Given the description of an element on the screen output the (x, y) to click on. 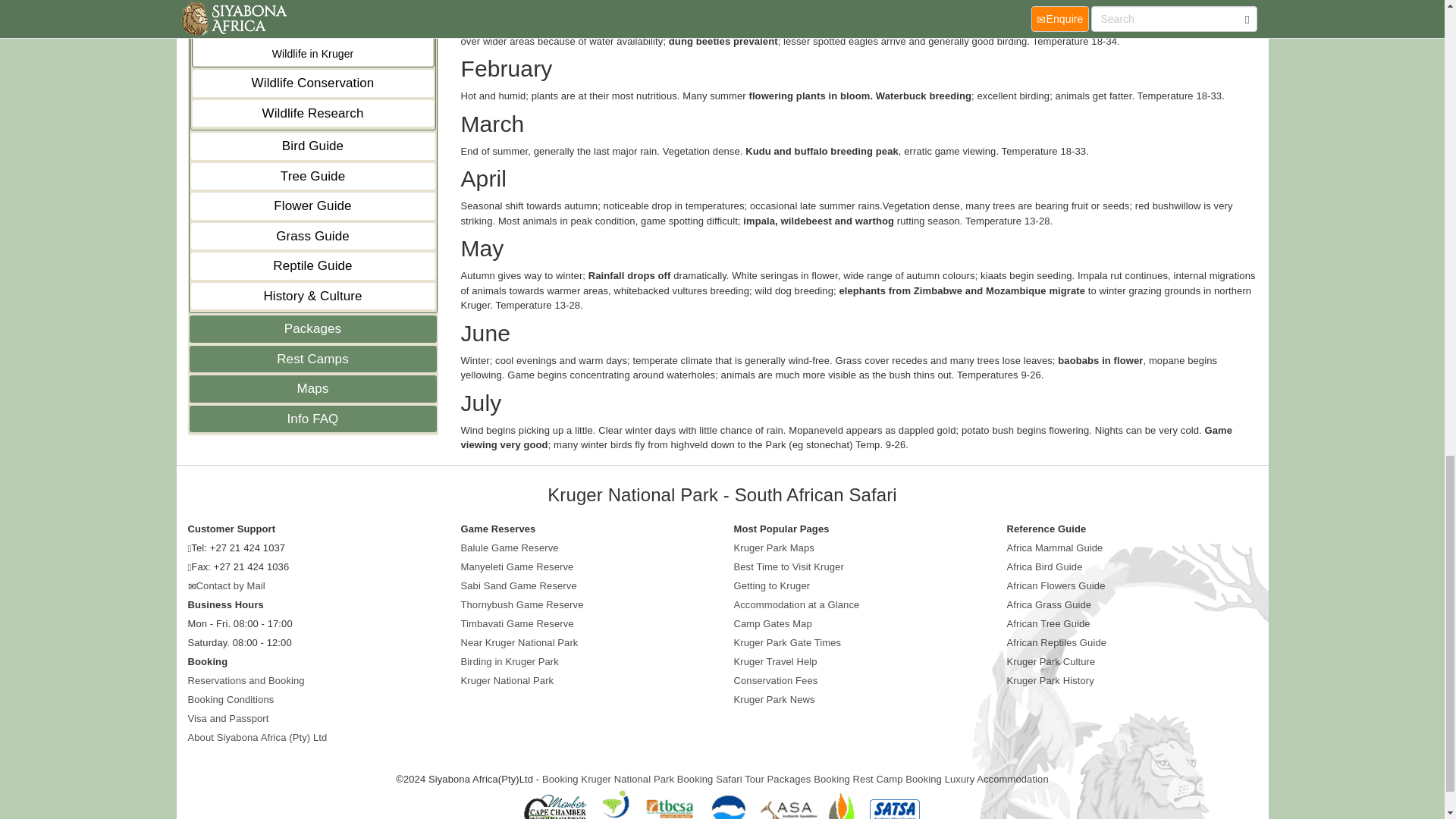
Wildlife Conservation (312, 83)
Small Creatures (312, 30)
Bird Guide (312, 145)
Prehistoric Animals (312, 9)
Wildlife Research (312, 112)
Wildlife in Kruger (312, 54)
